Given the description of an element on the screen output the (x, y) to click on. 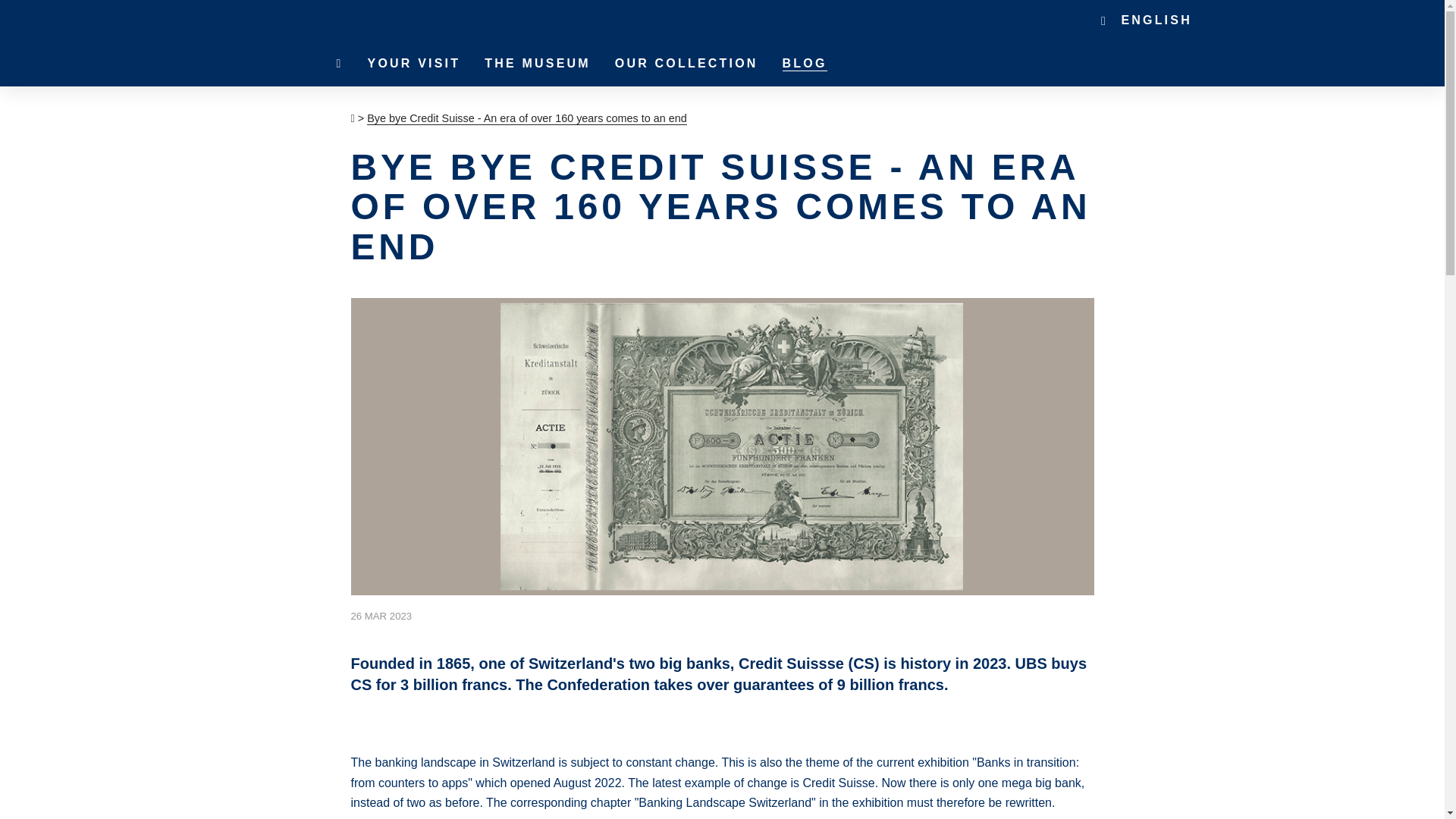
BLOG (805, 63)
YOUR VISIT (414, 63)
THE MUSEUM (536, 63)
OUR COLLECTION (686, 63)
